Given the description of an element on the screen output the (x, y) to click on. 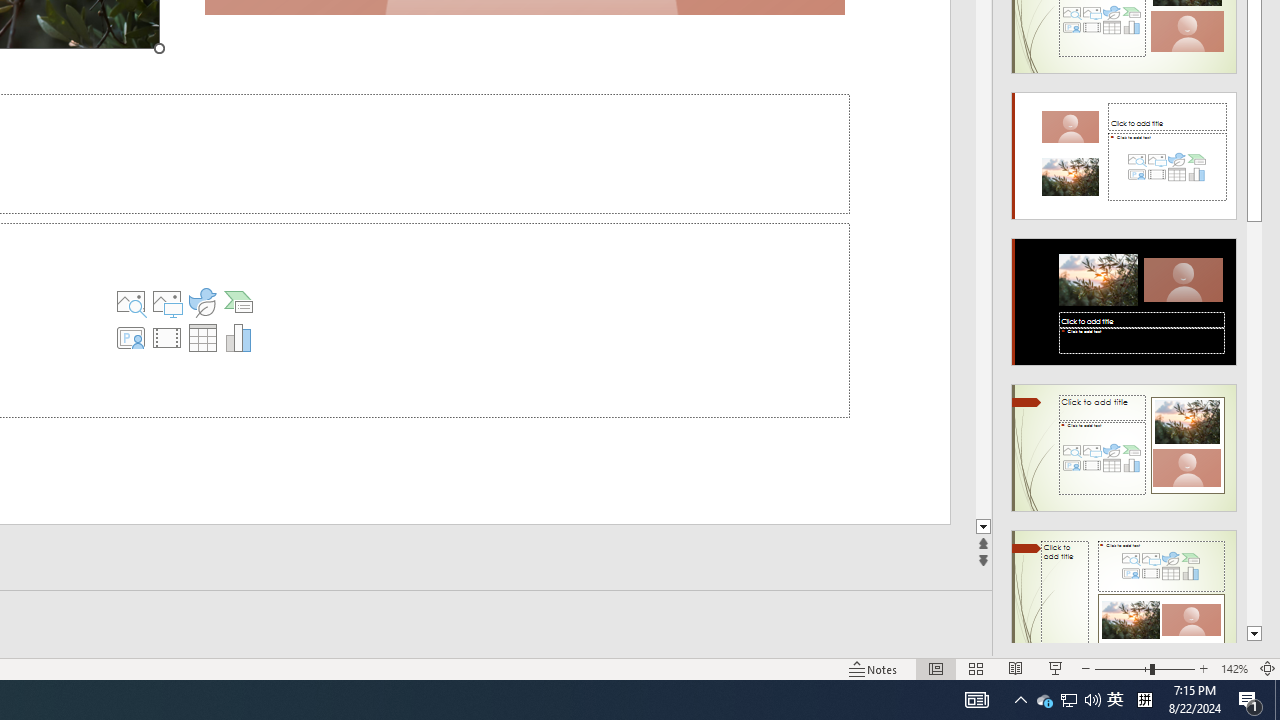
Stock Images (131, 301)
Insert Chart (238, 337)
Insert Cameo (131, 337)
Insert an Icon (202, 301)
Insert Table (202, 337)
Zoom 142% (1234, 668)
